Given the description of an element on the screen output the (x, y) to click on. 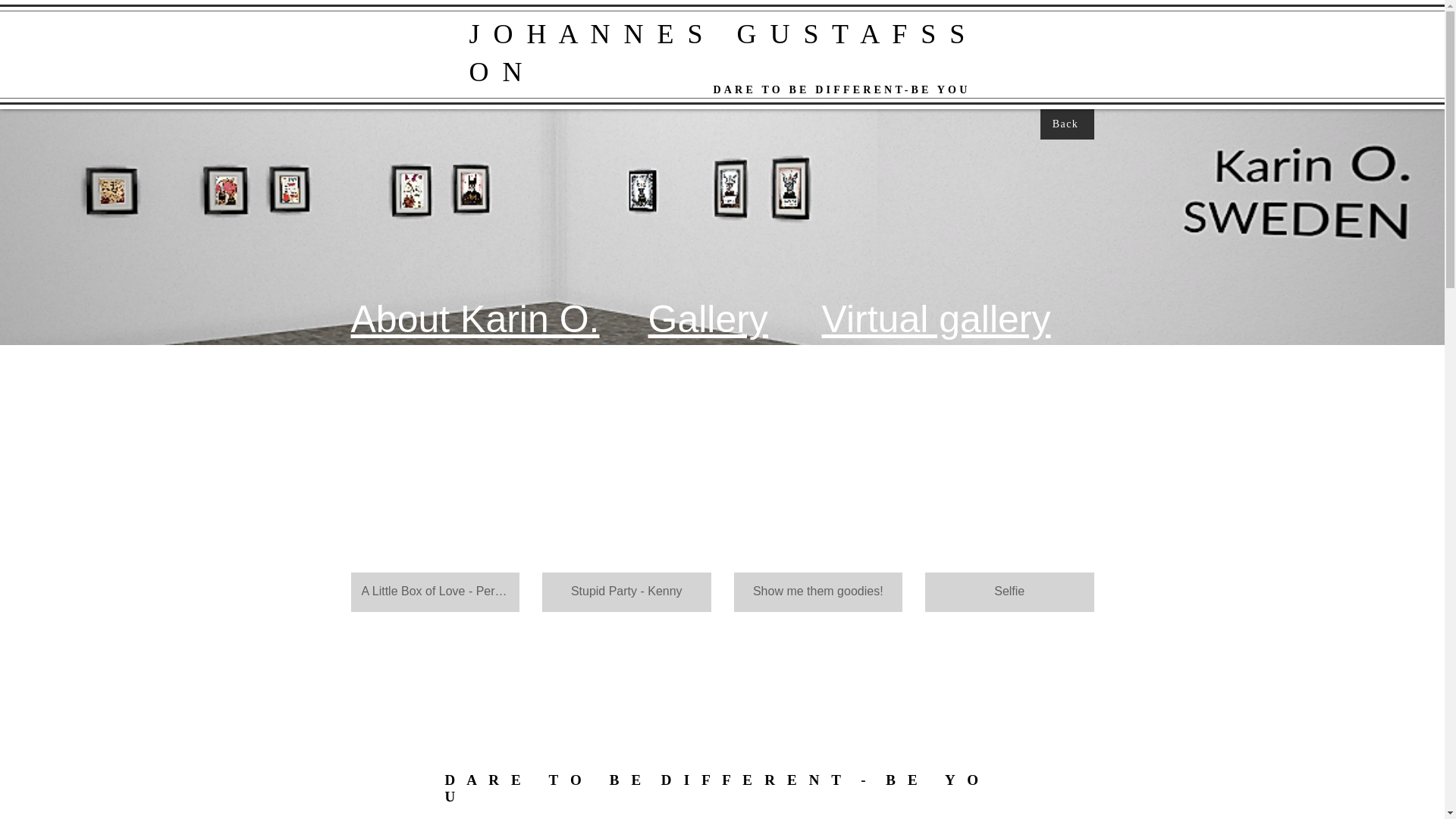
Virtual gallery (936, 319)
Back (1067, 123)
About Karin O. (474, 319)
Gallery (707, 319)
